Given the description of an element on the screen output the (x, y) to click on. 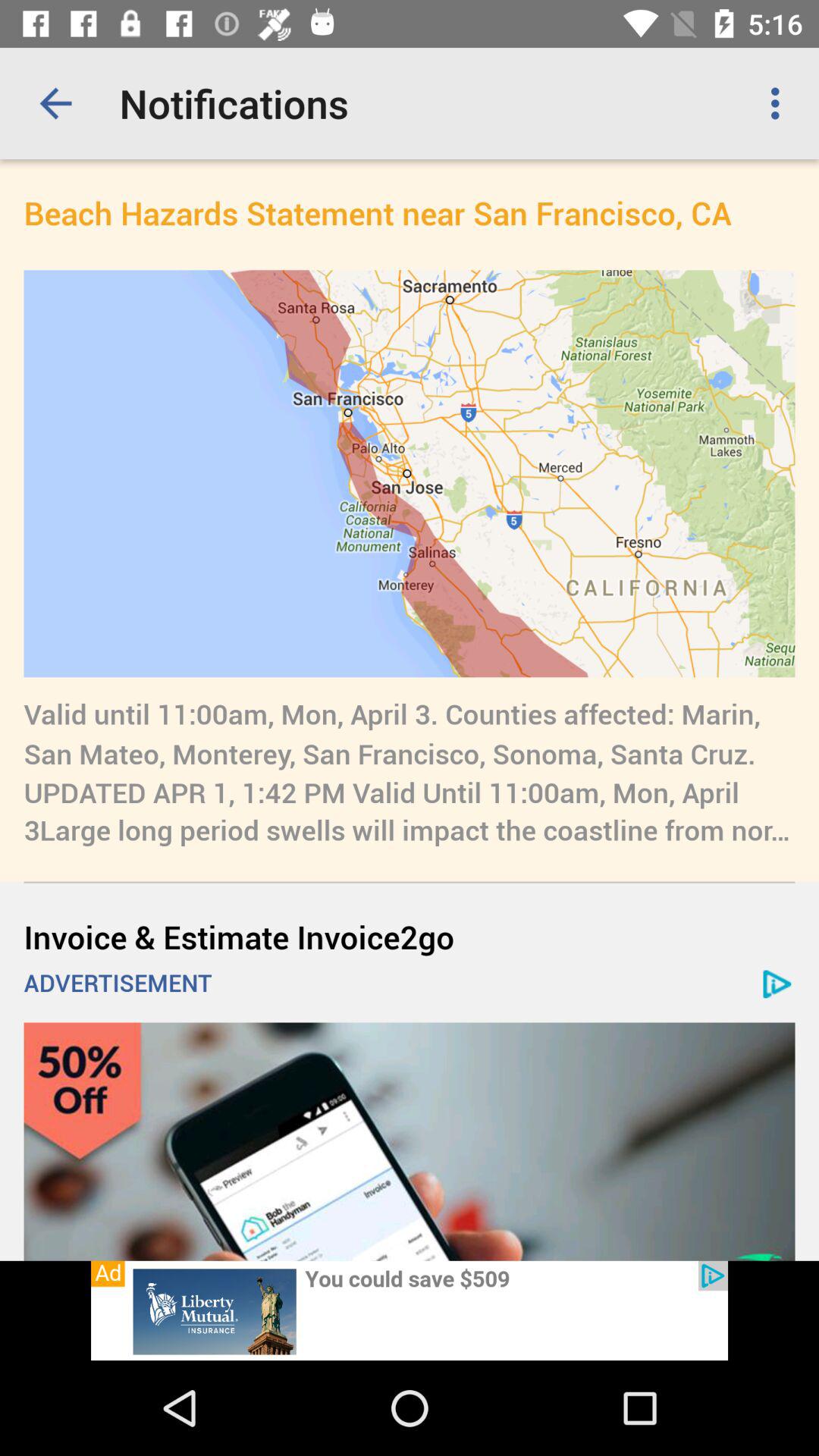
advertisement space (409, 1310)
